Given the description of an element on the screen output the (x, y) to click on. 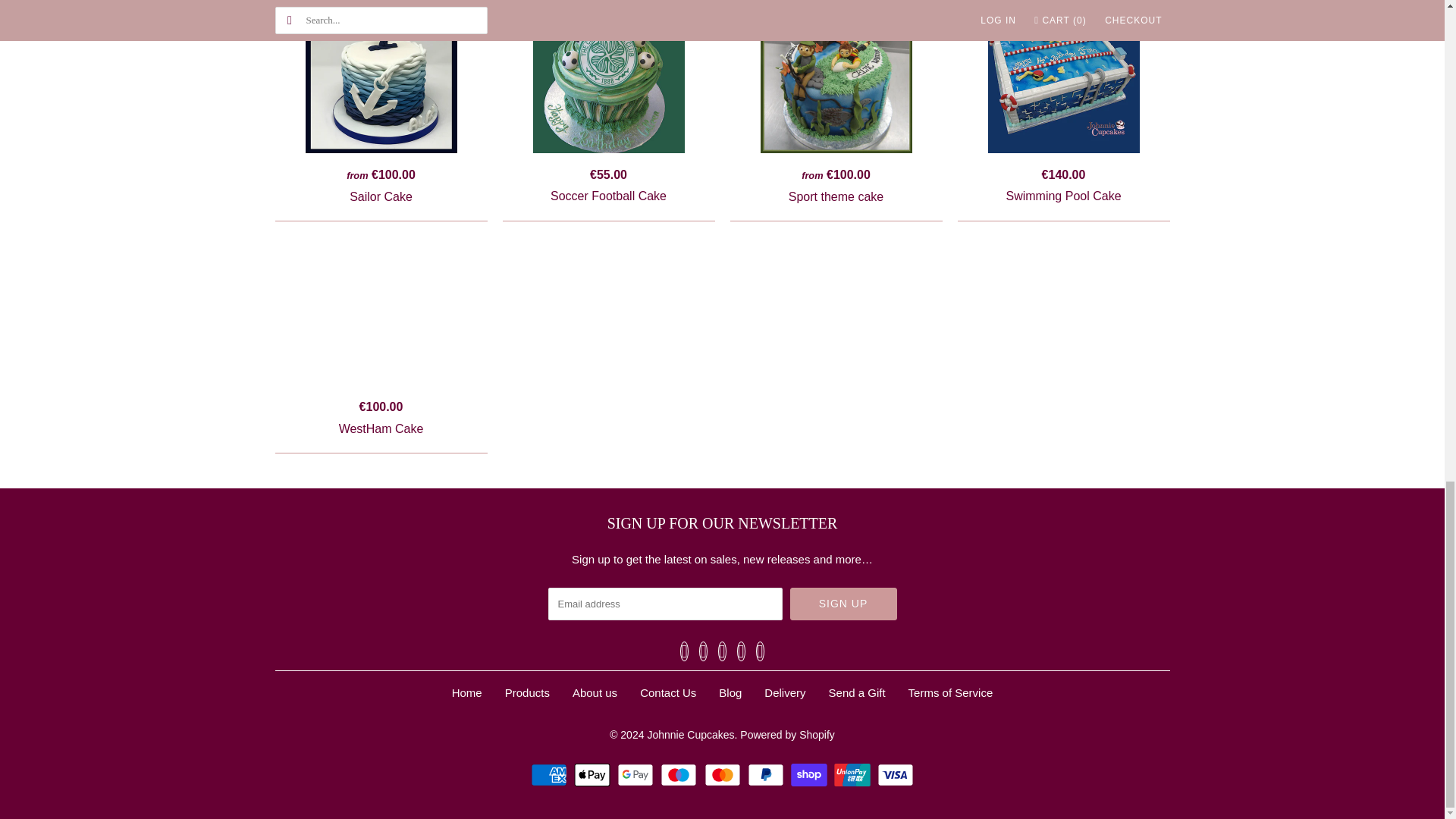
Maestro (680, 774)
Sign Up (843, 603)
Mastercard (723, 774)
Google Pay (637, 774)
Union Pay (854, 774)
PayPal (767, 774)
Apple Pay (593, 774)
Visa (895, 774)
American Express (550, 774)
Shop Pay (810, 774)
